Given the description of an element on the screen output the (x, y) to click on. 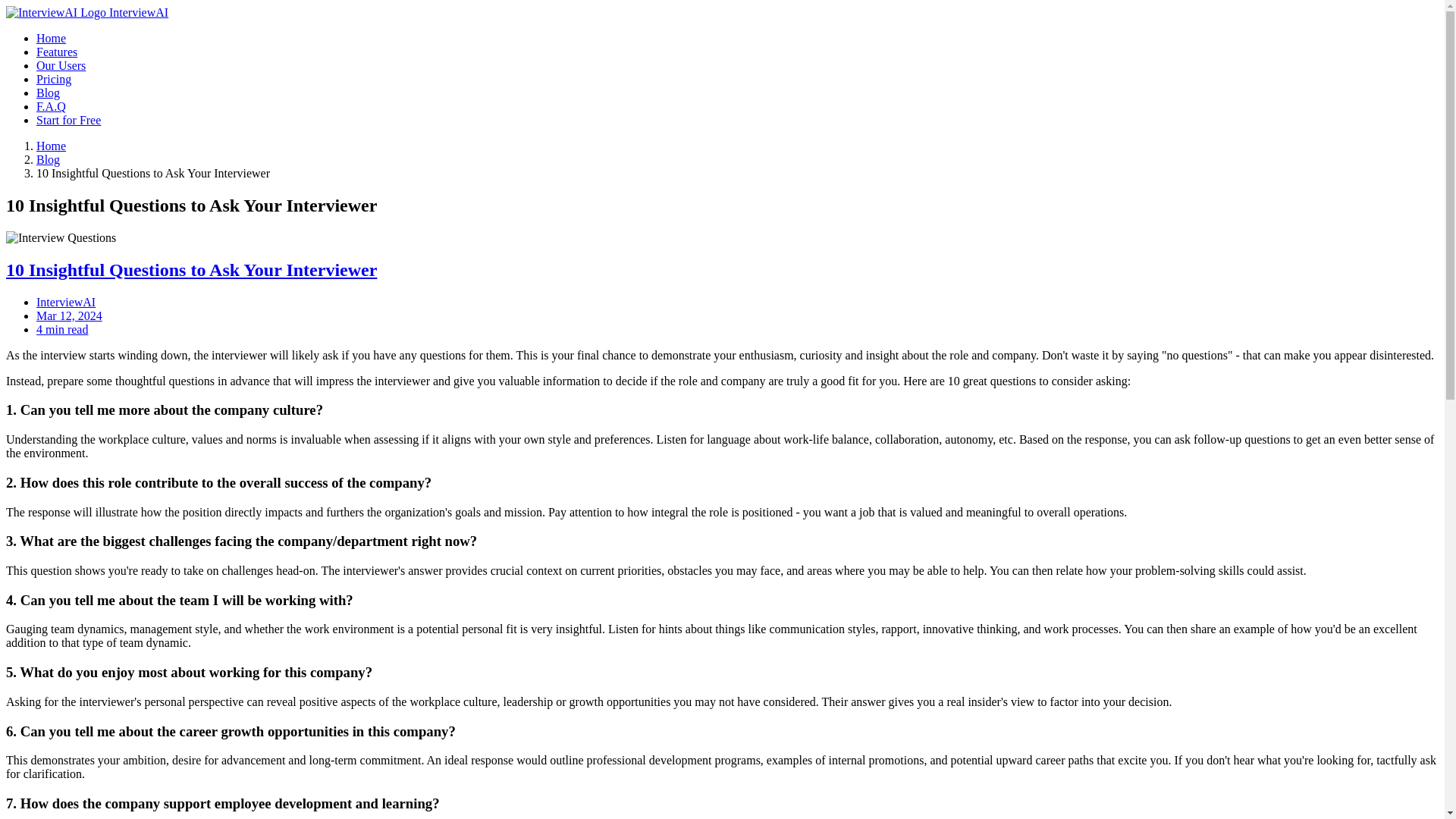
10 Insightful Questions to Ask Your Interviewer (191, 270)
F.A.Q (50, 106)
Blog (47, 92)
Mar 12, 2024 (68, 315)
Start for Free (68, 119)
Blog (47, 159)
Features (56, 51)
Pricing (53, 78)
Our Users (60, 65)
InterviewAI (66, 301)
Features (56, 51)
Blog (47, 92)
Home (50, 145)
Pricing (53, 78)
4 min read (61, 328)
